Given the description of an element on the screen output the (x, y) to click on. 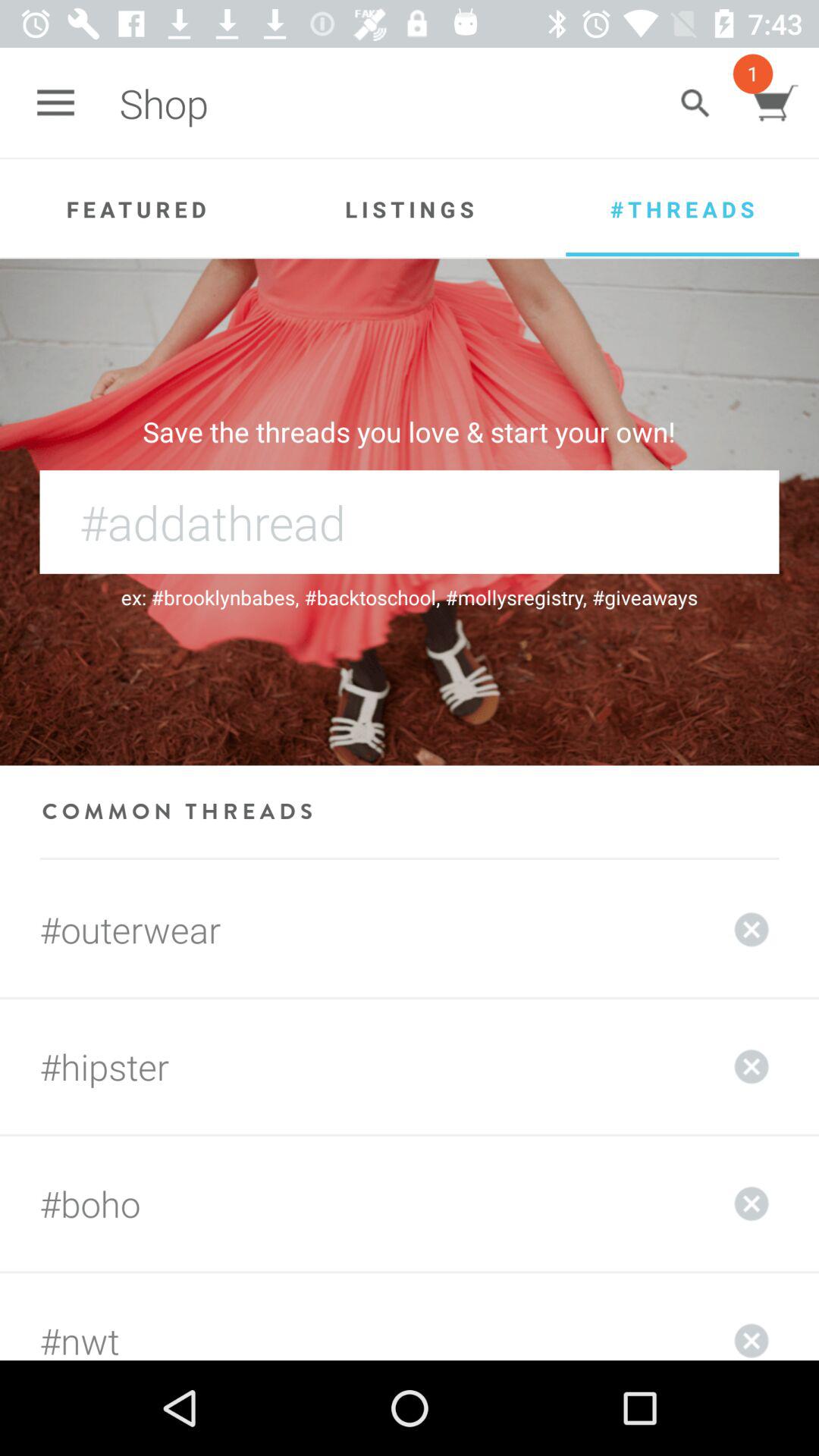
cancel (751, 1203)
